Given the description of an element on the screen output the (x, y) to click on. 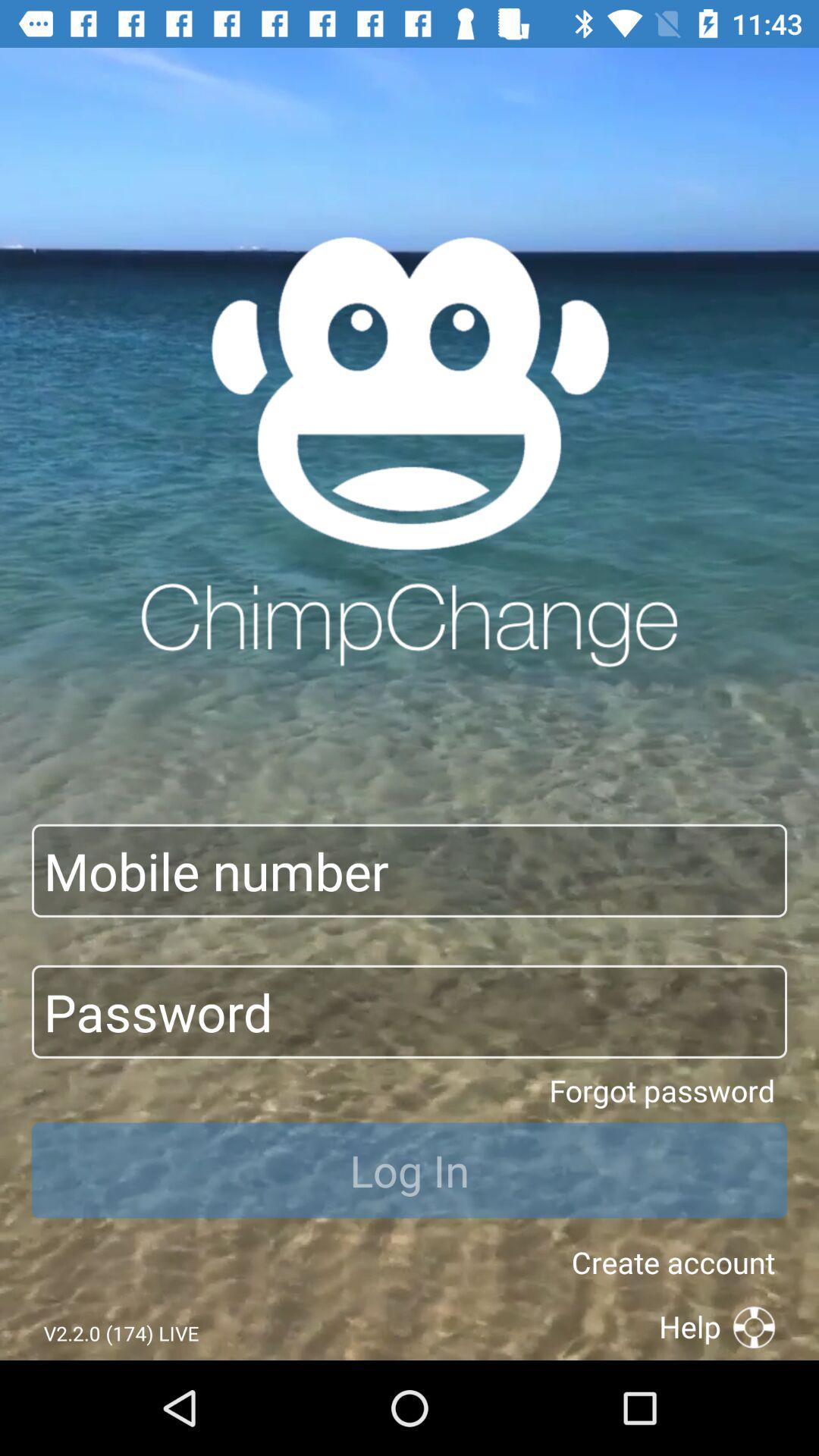
input the password (409, 1011)
